Given the description of an element on the screen output the (x, y) to click on. 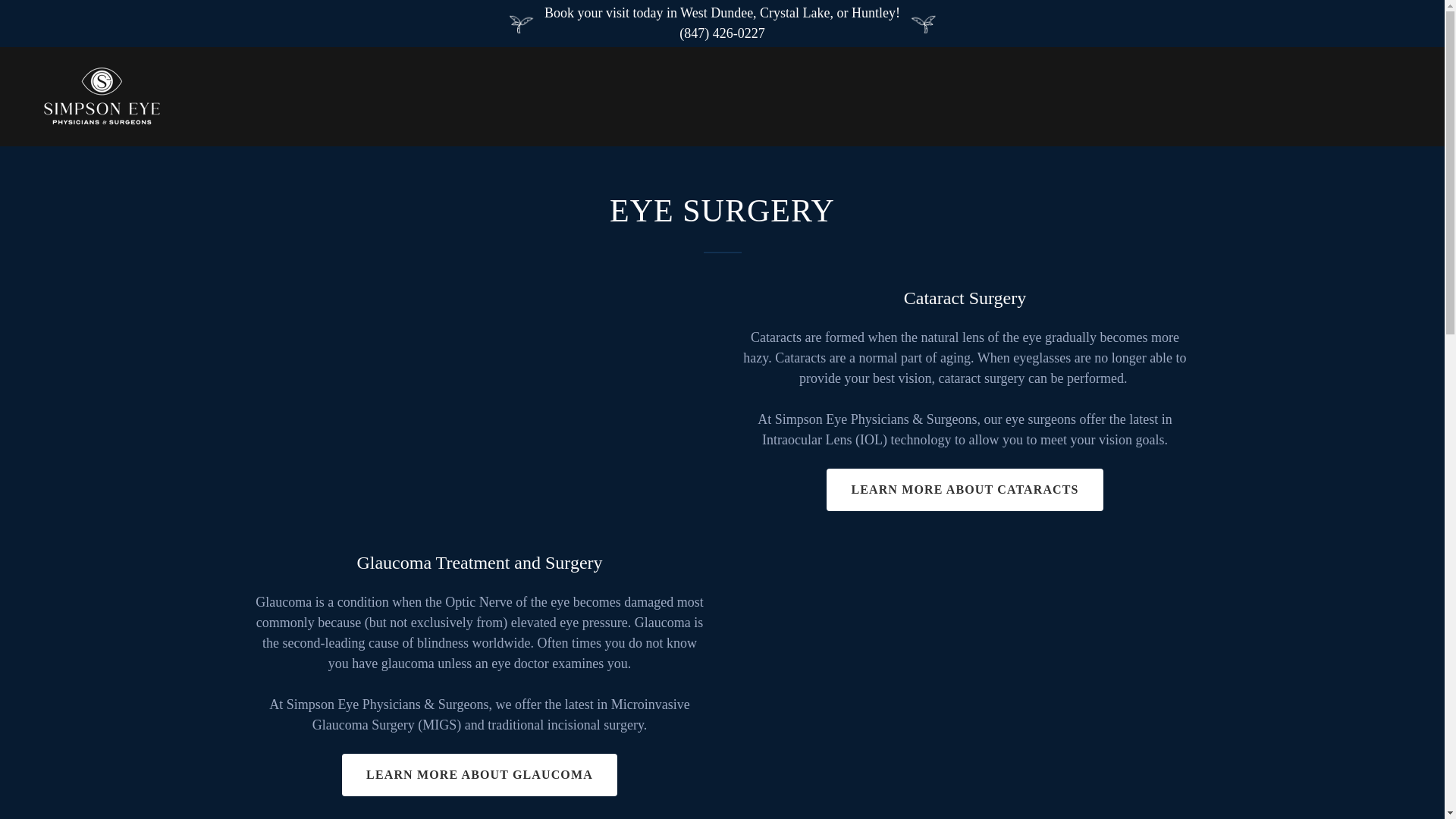
Simpson Eye Associates (101, 95)
LEARN MORE ABOUT CATARACTS (964, 489)
LEARN MORE ABOUT GLAUCOMA (479, 774)
